Given the description of an element on the screen output the (x, y) to click on. 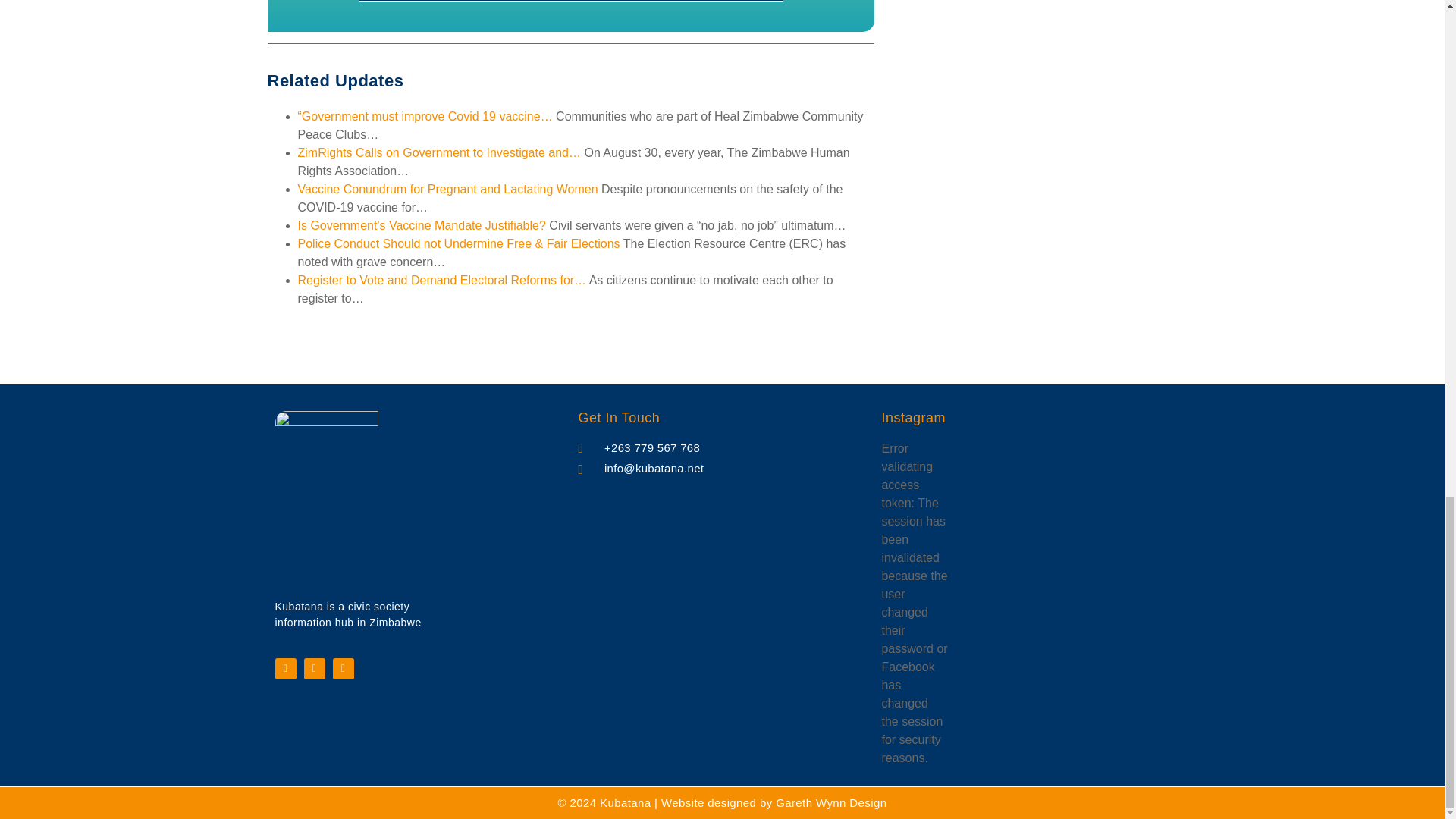
Vaccine Conundrum for Pregnant and Lactating Women (446, 188)
Is Government's Vaccine Mandate Justifiable? (420, 225)
